Given the description of an element on the screen output the (x, y) to click on. 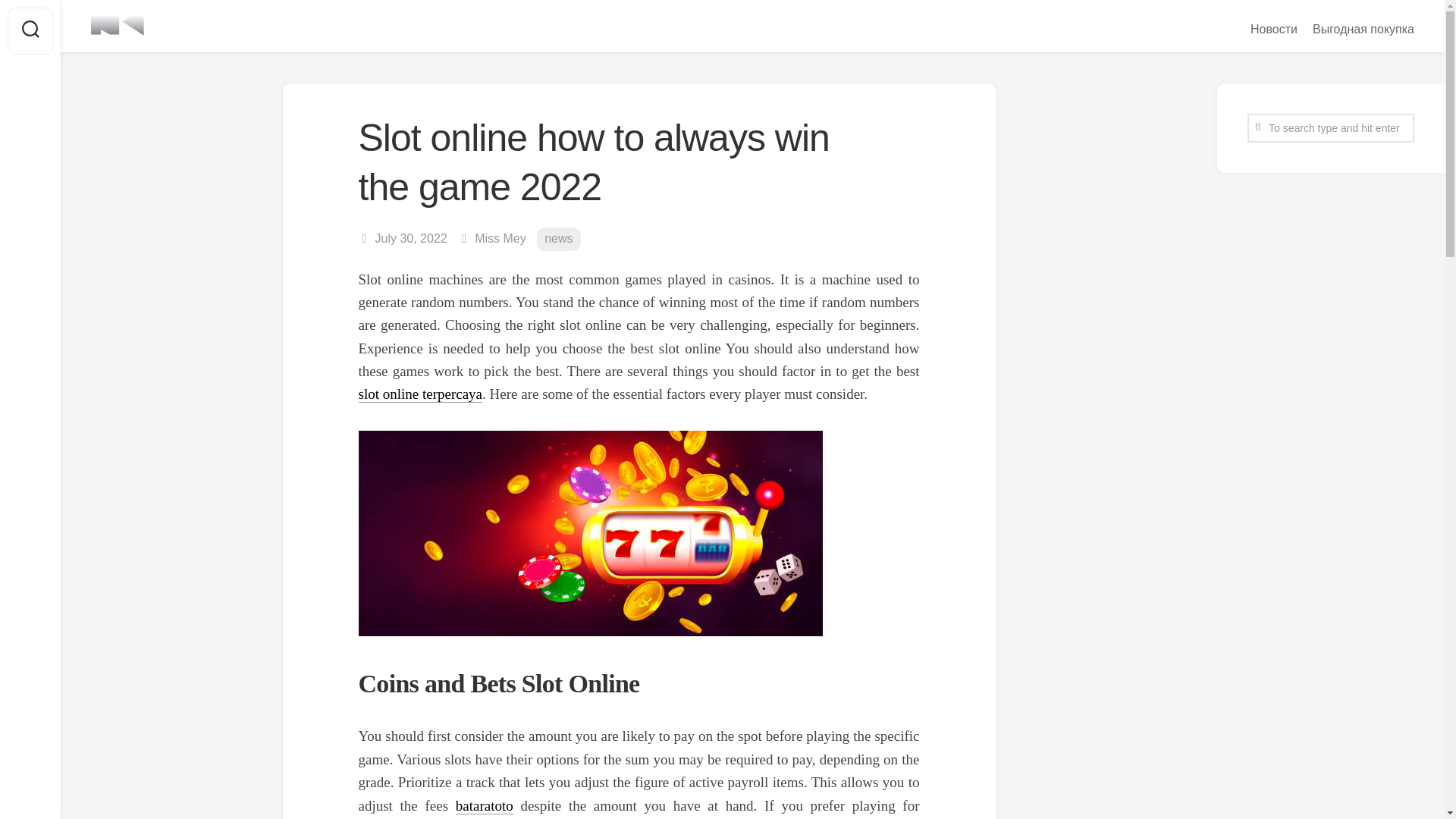
news (558, 238)
To search type and hit enter (1330, 127)
Posts by Miss Mey (499, 237)
slot online terpercaya (419, 393)
bataratoto (484, 805)
Miss Mey (499, 237)
To search type and hit enter (1330, 127)
